Given the description of an element on the screen output the (x, y) to click on. 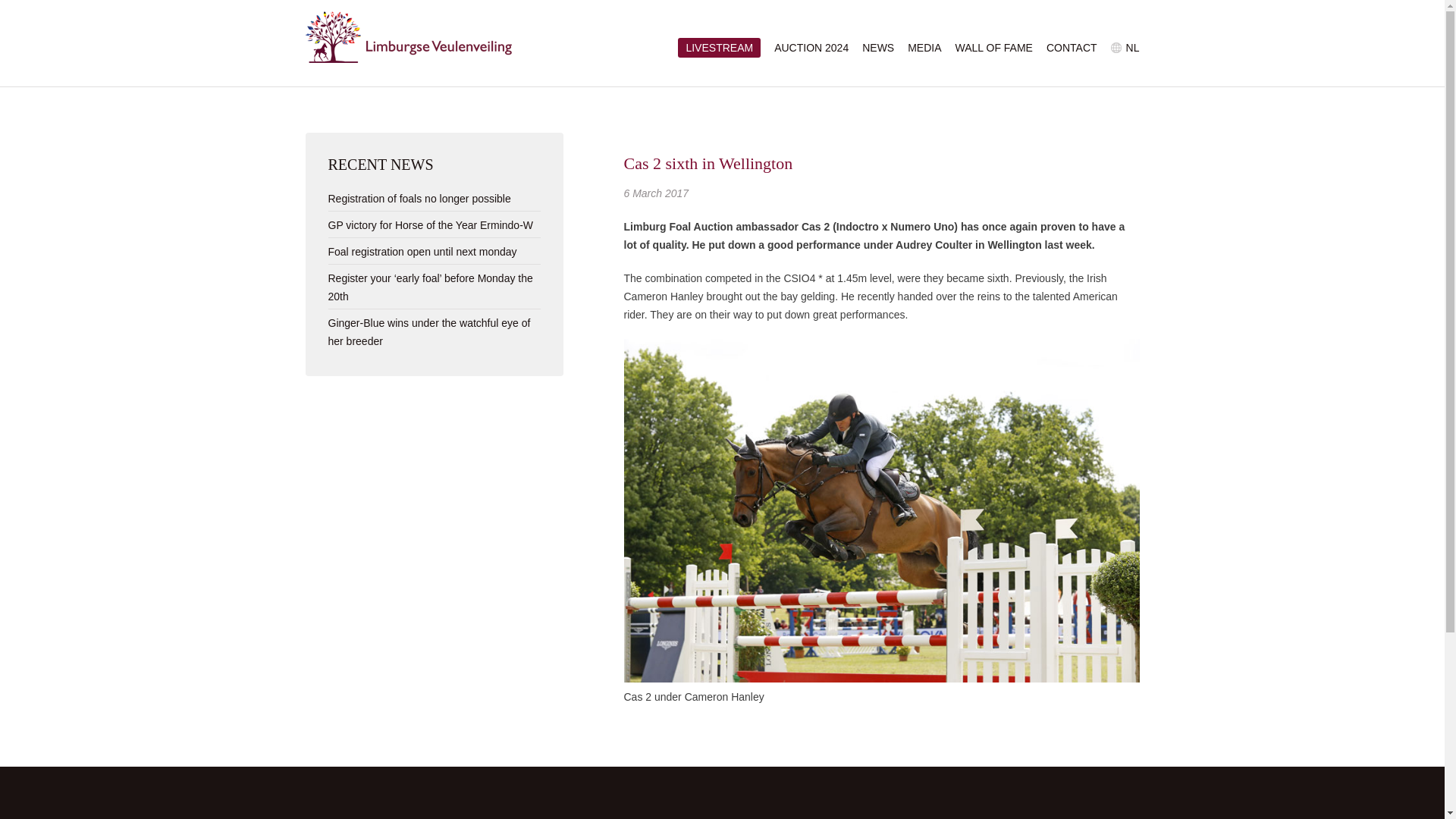
GP victory for Horse of the Year Ermindo-W (429, 224)
CONTACT (1071, 47)
WALL OF FAME (993, 47)
AUCTION 2024 (811, 47)
LIVESTREAM (719, 47)
NL (1132, 47)
Foal registration open until next monday (421, 251)
Ginger-Blue wins under the watchful eye of her breeder (428, 331)
MEDIA (923, 47)
Registration of foals no longer possible (419, 198)
NEWS (877, 47)
